Given the description of an element on the screen output the (x, y) to click on. 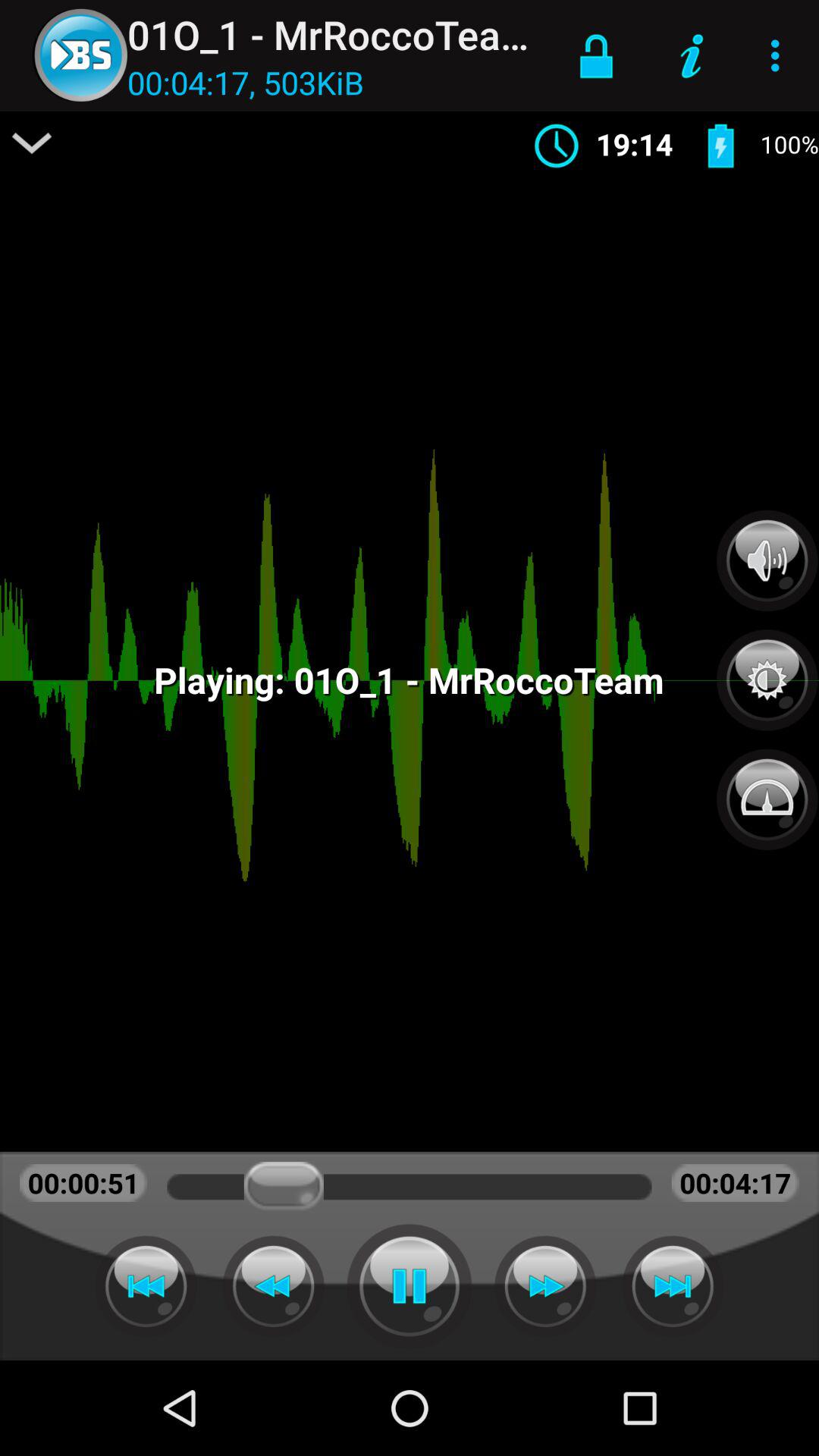
select item to the right of 01o_1 - mrroccoteam app (595, 55)
